Given the description of an element on the screen output the (x, y) to click on. 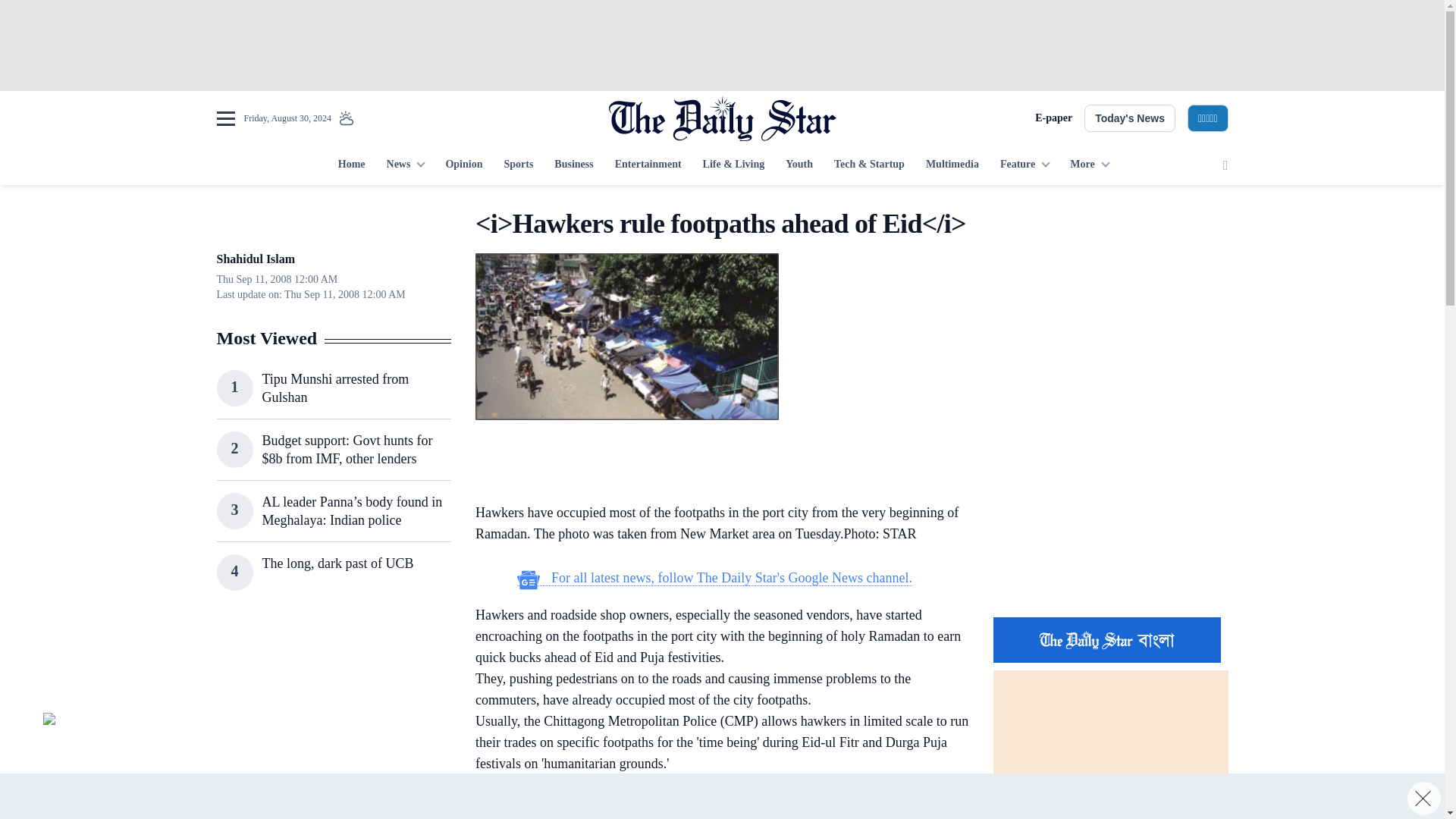
3rd party ad content (332, 717)
3rd party ad content (714, 463)
E-paper (1053, 117)
3rd party ad content (1110, 506)
Opinion (463, 165)
Today's News (1129, 117)
Feature (1024, 165)
3rd party ad content (721, 796)
Youth (799, 165)
